Given the description of an element on the screen output the (x, y) to click on. 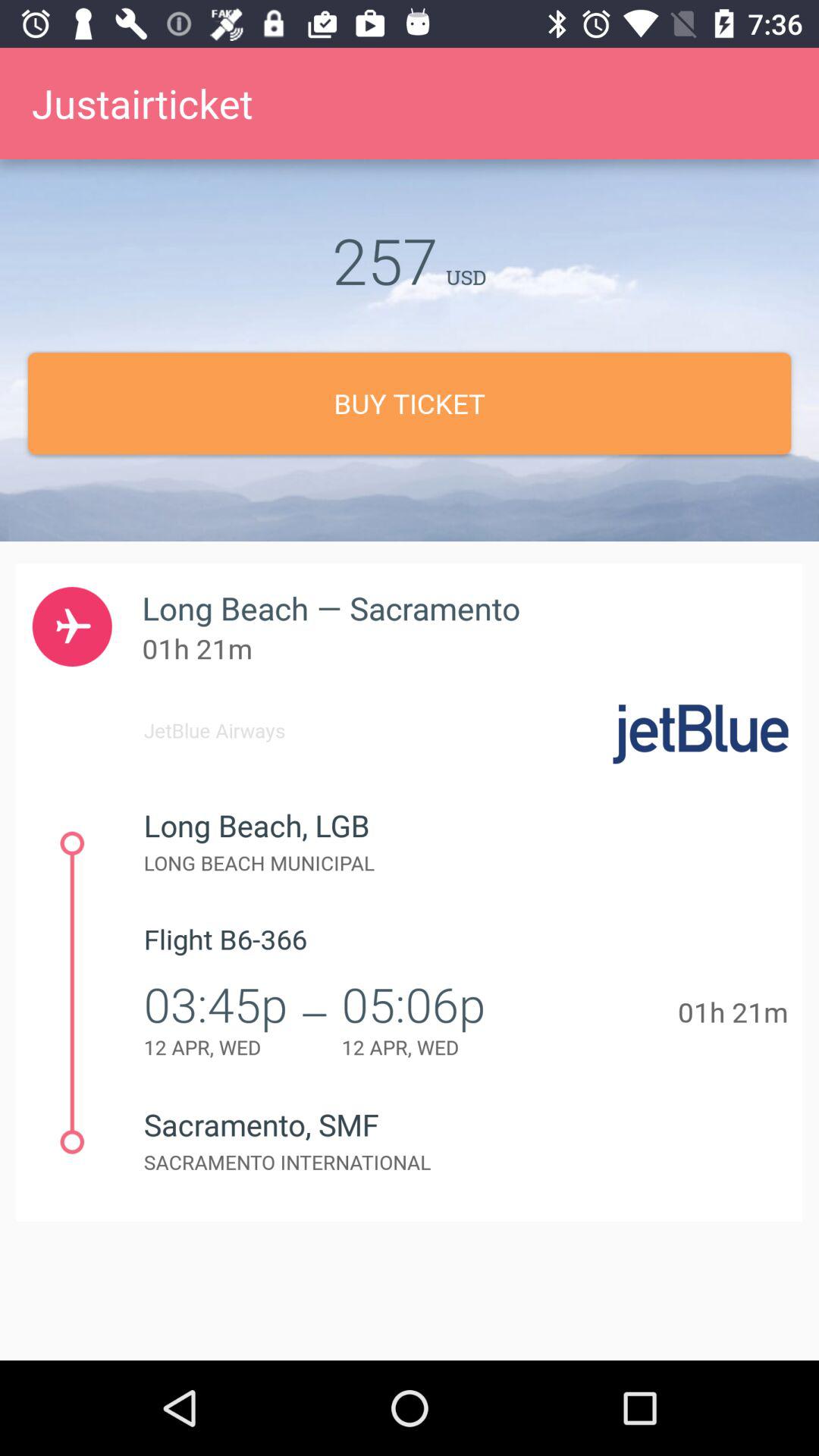
scroll to the buy ticket item (409, 403)
